Given the description of an element on the screen output the (x, y) to click on. 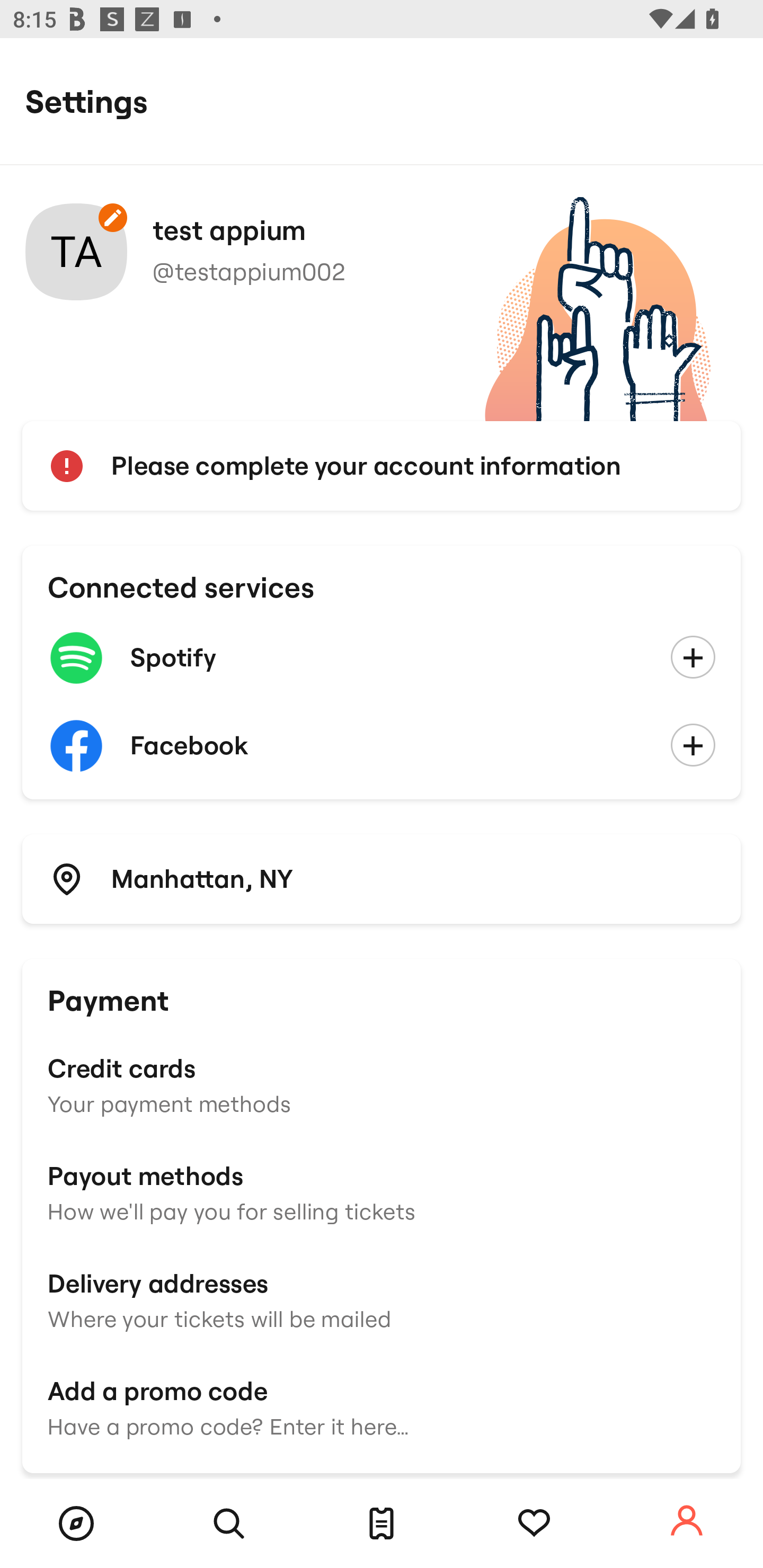
Your account photo (76, 252)
Please complete your account information (381, 466)
Spotify (381, 658)
Facebook (381, 746)
Manhattan, NY (381, 878)
Credit cards Your payment methods (381, 1084)
Add a promo code Have a promo code? Enter it here… (381, 1406)
Browse (76, 1523)
Search (228, 1523)
Tickets (381, 1523)
Tracking (533, 1523)
Account (686, 1521)
